Given the description of an element on the screen output the (x, y) to click on. 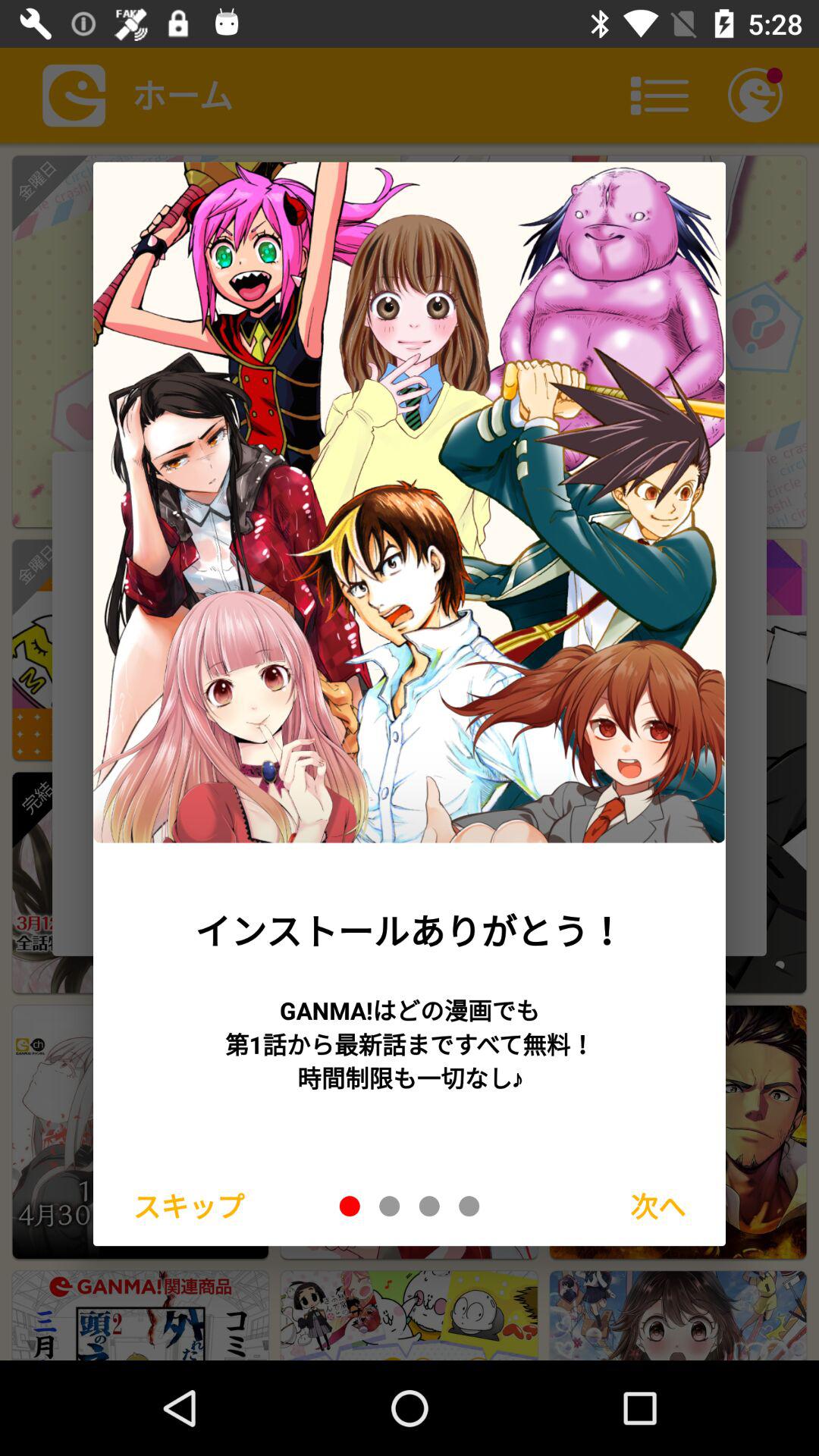
go to 3rd slide (429, 1206)
